Given the description of an element on the screen output the (x, y) to click on. 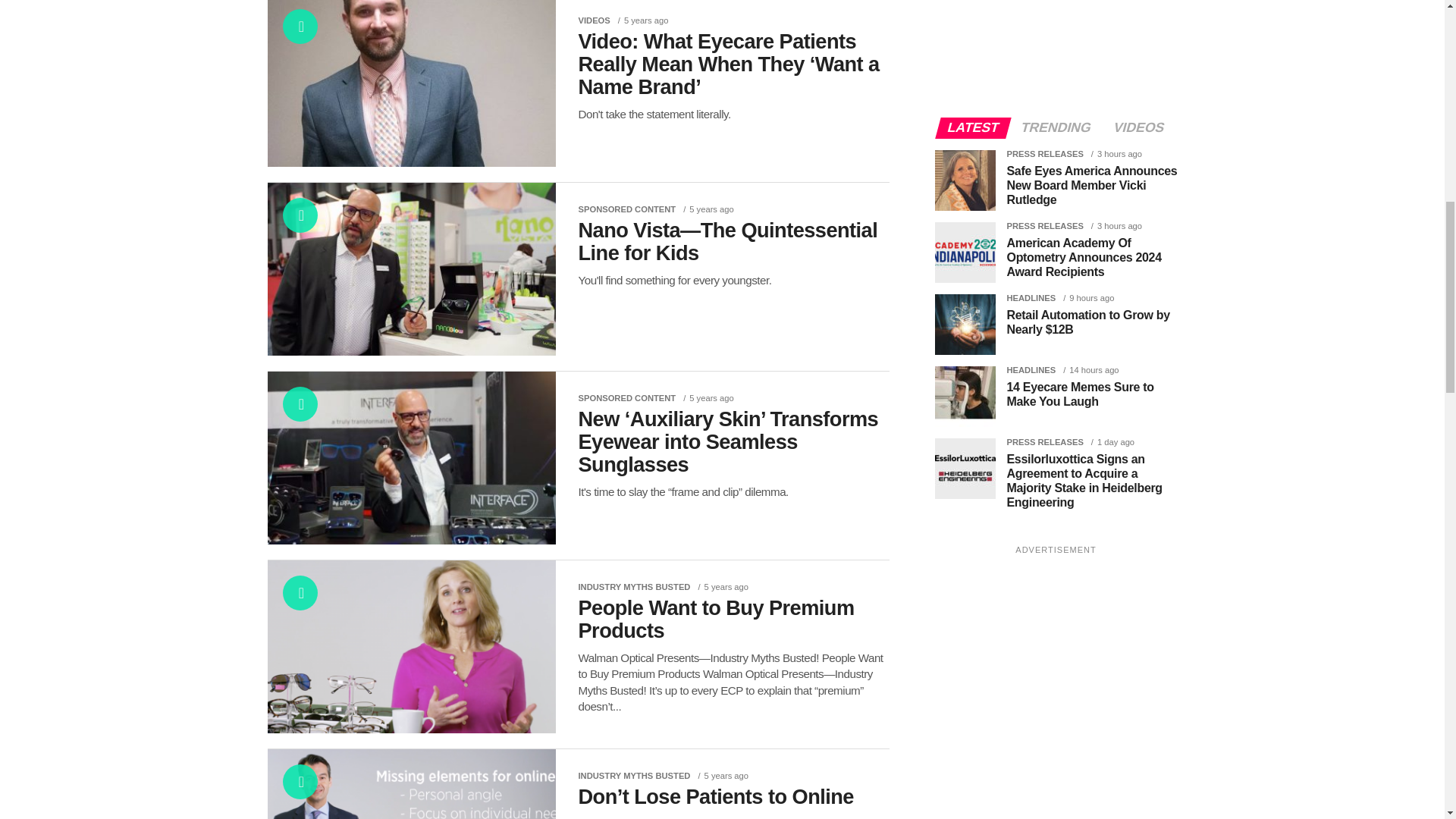
3rd party ad content (1047, 47)
3rd party ad content (1047, 670)
